Given the description of an element on the screen output the (x, y) to click on. 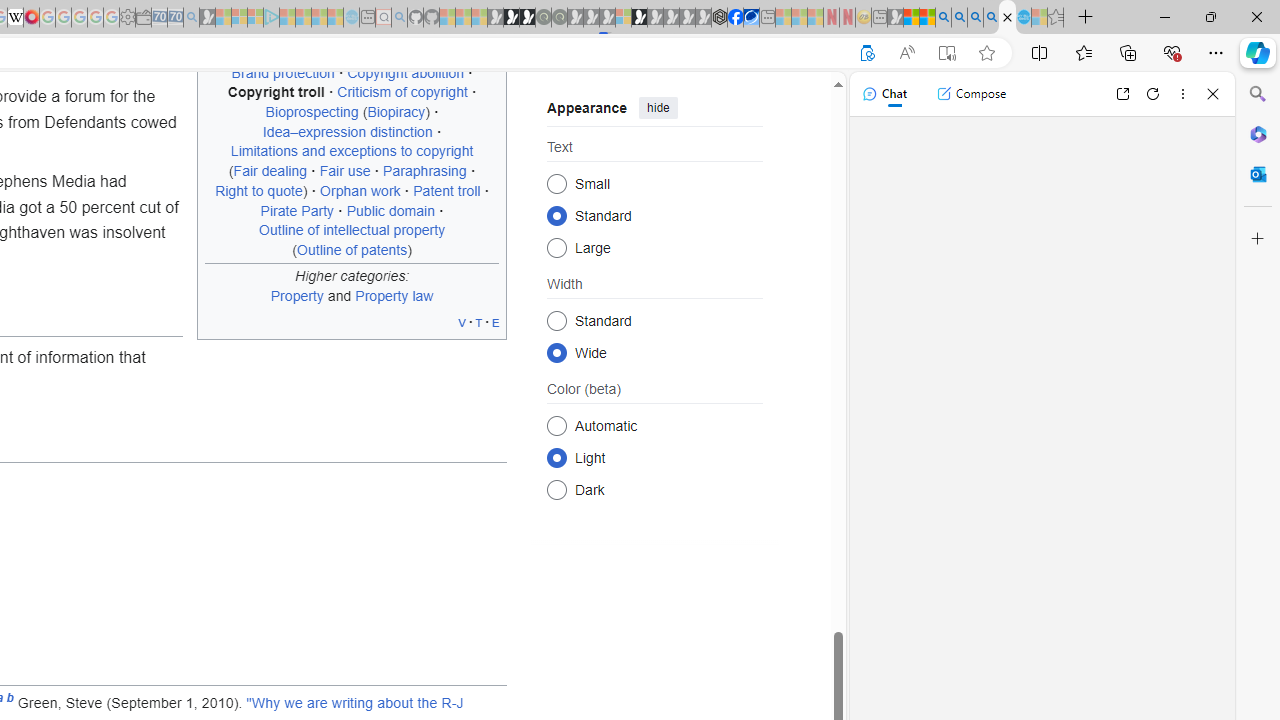
t (478, 322)
MSN - Sleeping (895, 17)
Small (556, 182)
Open link in new tab (1122, 93)
Outline of intellectual property (Outline of patents) (351, 239)
Standard (556, 320)
Property (296, 295)
Wallet - Sleeping (143, 17)
Home | Sky Blue Bikes - Sky Blue Bikes - Sleeping (351, 17)
